Given the description of an element on the screen output the (x, y) to click on. 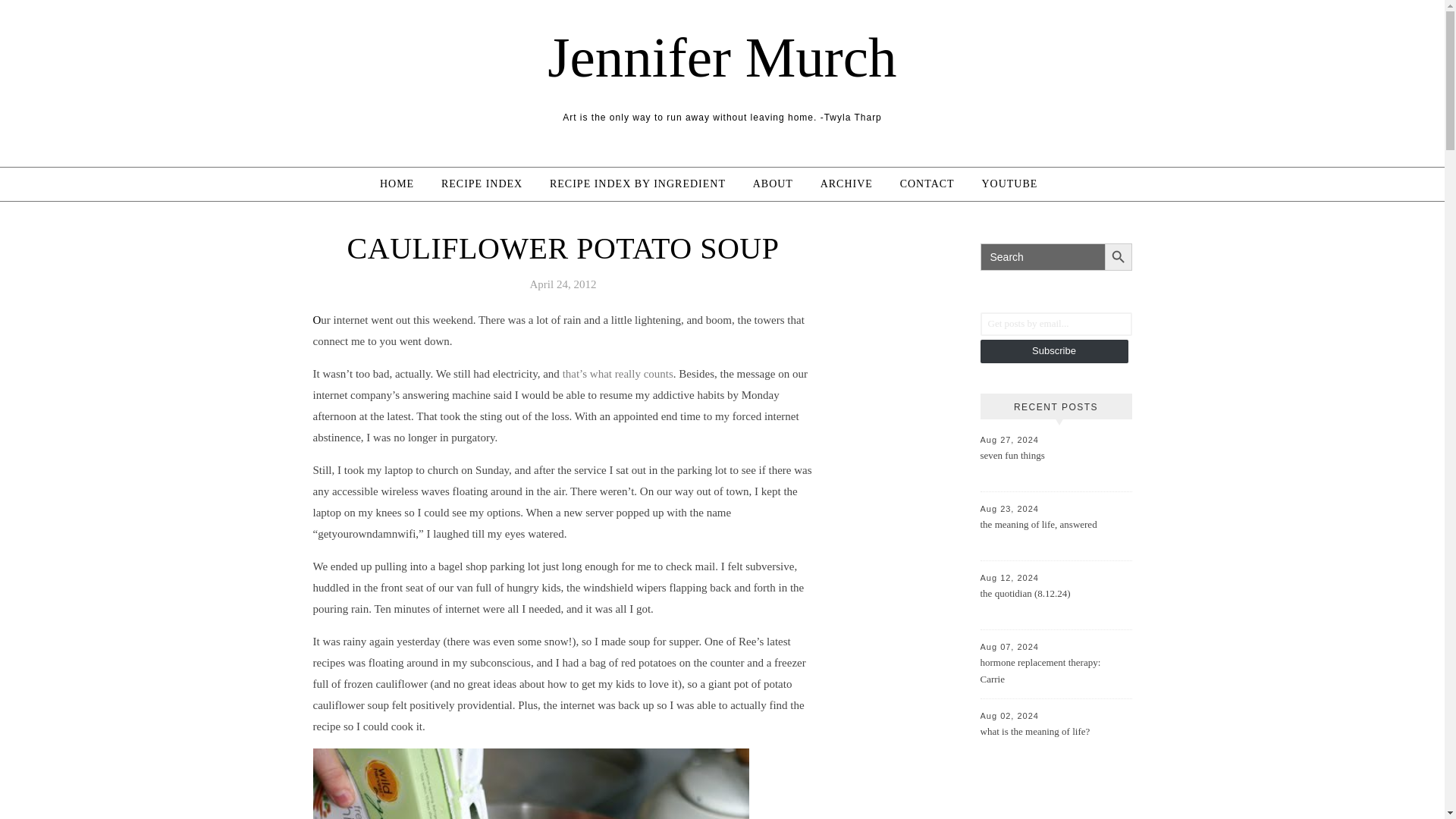
ABOUT (773, 183)
RECIPE INDEX (481, 183)
RECIPE INDEX BY INGREDIENT (637, 183)
ARCHIVE (846, 183)
YOUTUBE (1009, 183)
CONTACT (927, 183)
HOME (403, 183)
Please fill in this field. (1055, 323)
Jennifer Murch (721, 56)
